Given the description of an element on the screen output the (x, y) to click on. 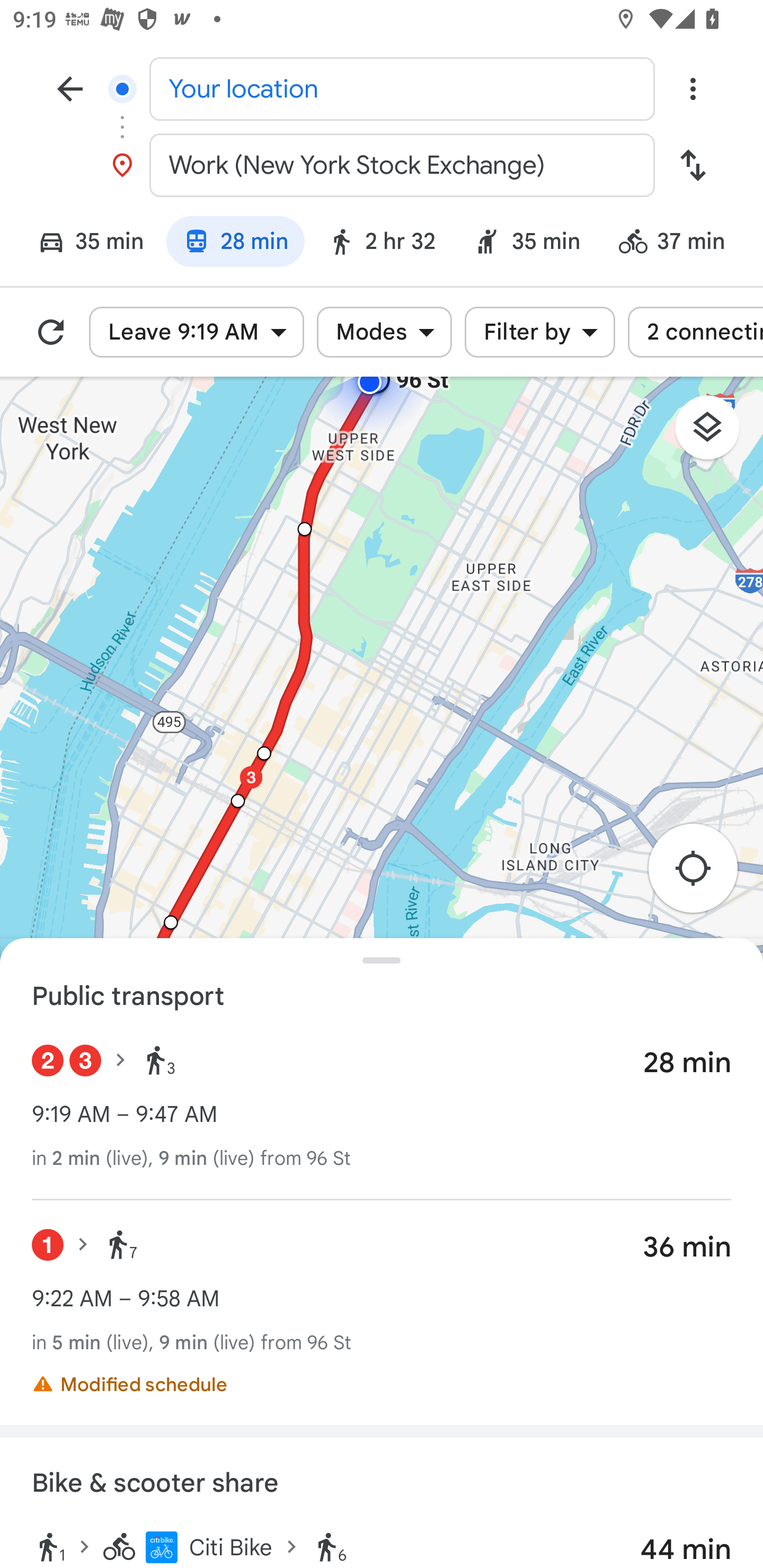
Navigate up (70, 88)
Your location Start location, Your location (381, 88)
Overflow menu (692, 88)
Swap start and destination (692, 165)
Driving mode: 35 min 35 min (82, 244)
Walking mode: 2 hr 32 2 hr 32 (380, 244)
Ride service: 35 min 35 min (526, 244)
Bicycling mode: 37 min 37 min (679, 244)
Refresh (50, 332)
Leave 9:19 AM Leave 9:19 AM Leave 9:19 AM (196, 332)
Modes Modes Modes (383, 332)
Filter by Filter by Filter by (539, 332)
Layers (716, 433)
Re-center map to your location (702, 872)
